Given the description of an element on the screen output the (x, y) to click on. 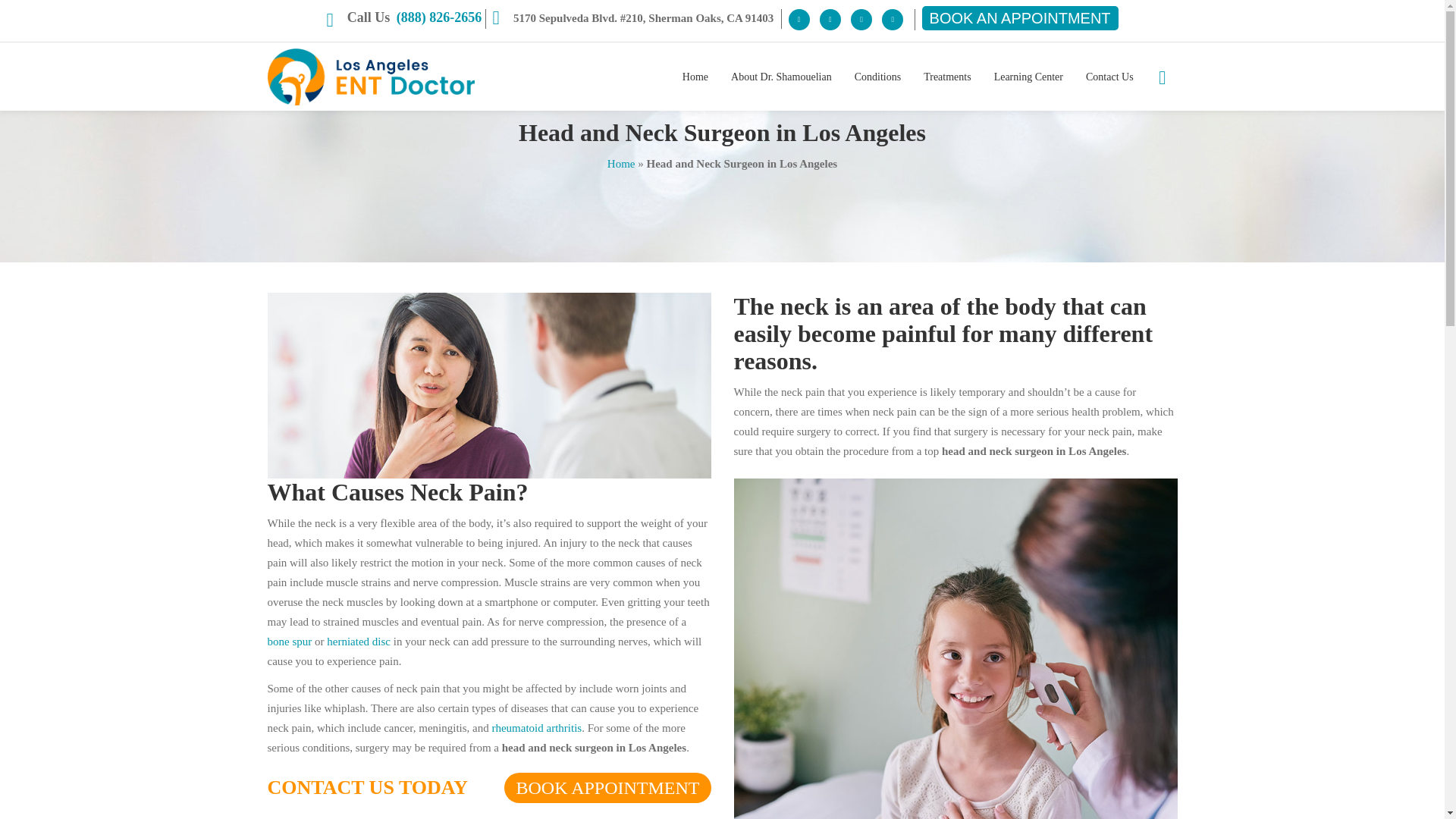
head-and-neck-surgeon-in-Los-Angeles-LA-ENT-Doctor-1 (488, 385)
Conditions (877, 76)
About Dr. Shamouelian (781, 76)
BOOK AN APPOINTMENT (1019, 17)
Treatments (946, 76)
